Given the description of an element on the screen output the (x, y) to click on. 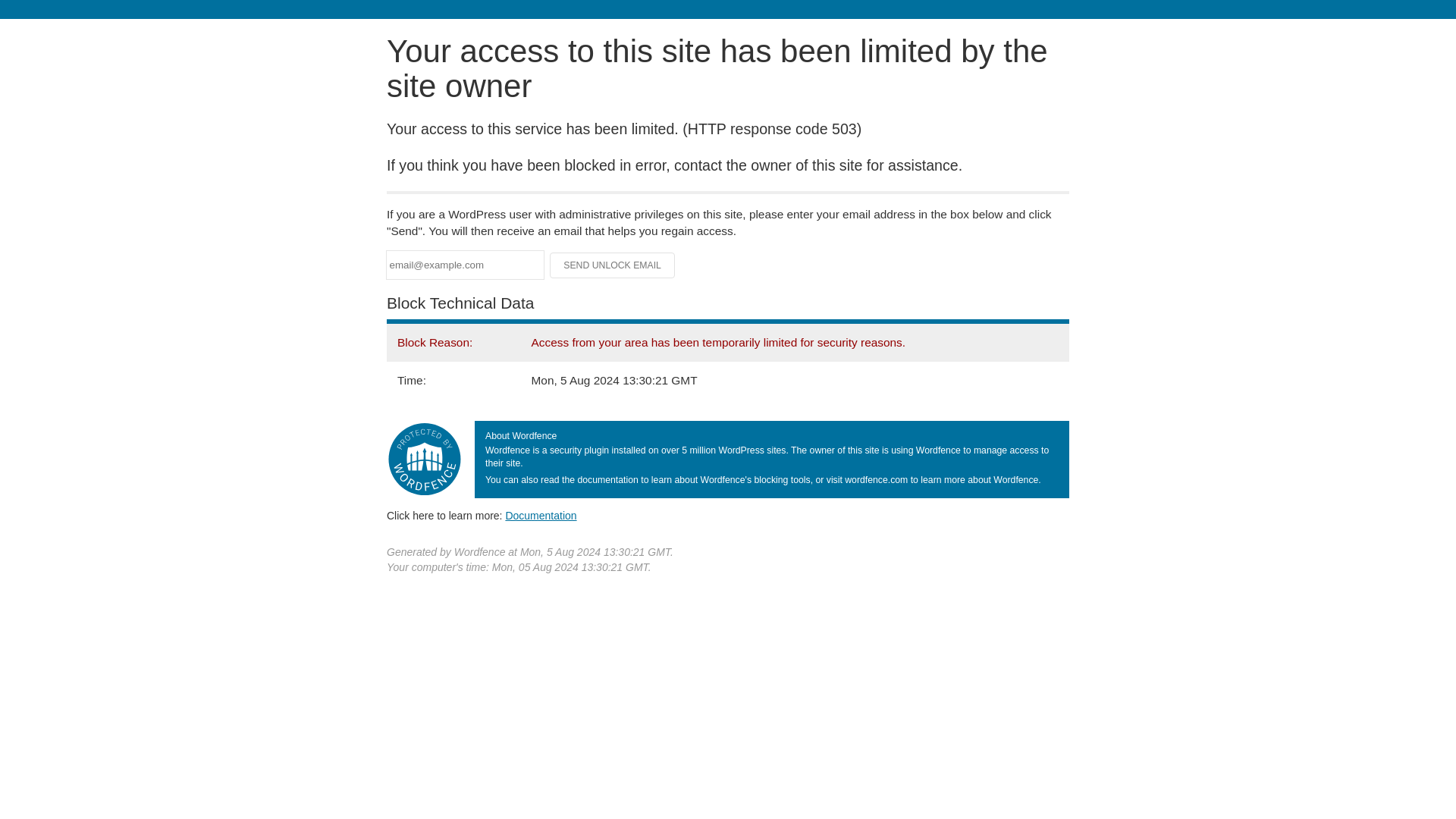
Send Unlock Email (612, 265)
Documentation (540, 515)
Send Unlock Email (612, 265)
